Given the description of an element on the screen output the (x, y) to click on. 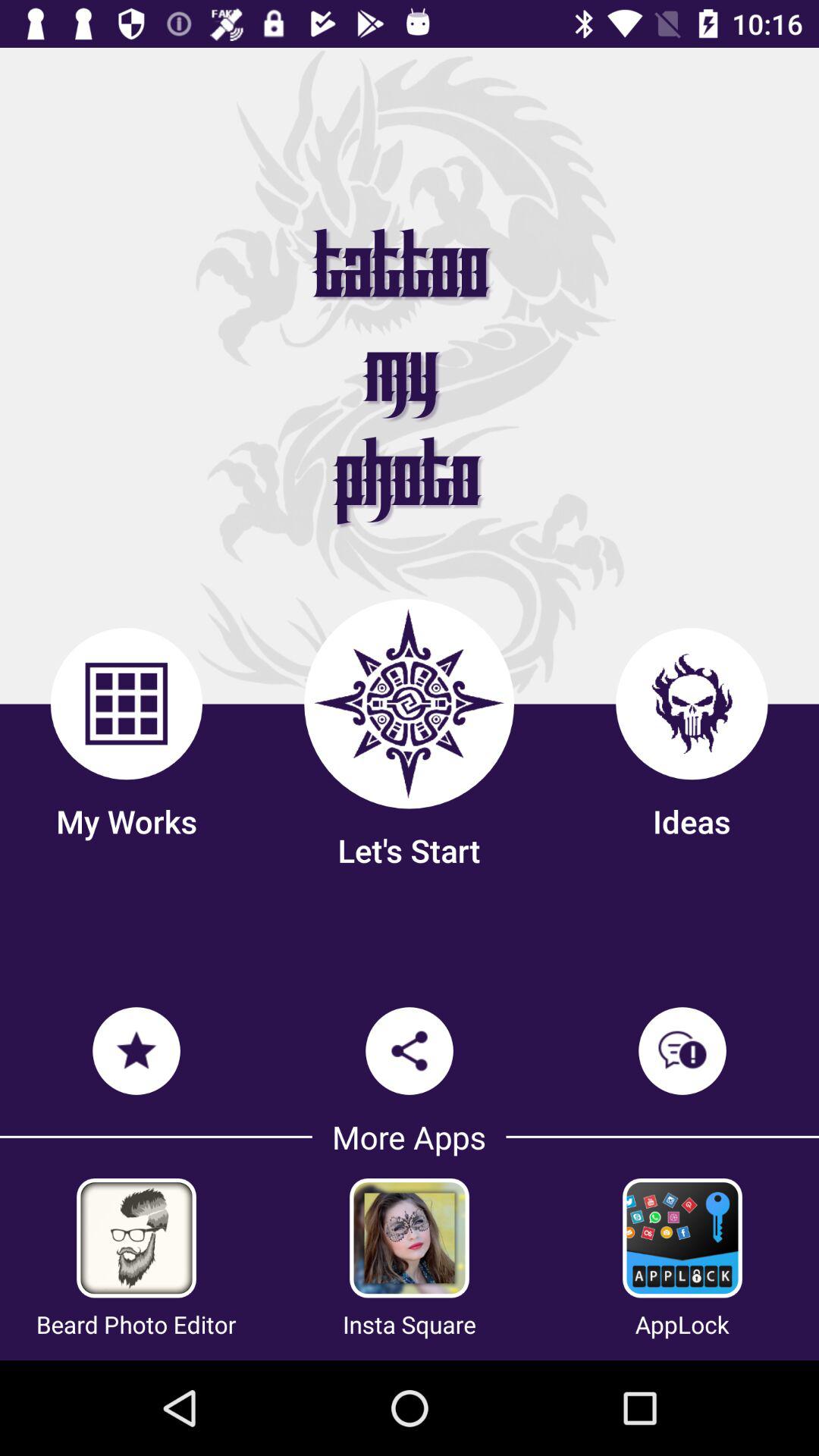
click the applock item (682, 1324)
